Given the description of an element on the screen output the (x, y) to click on. 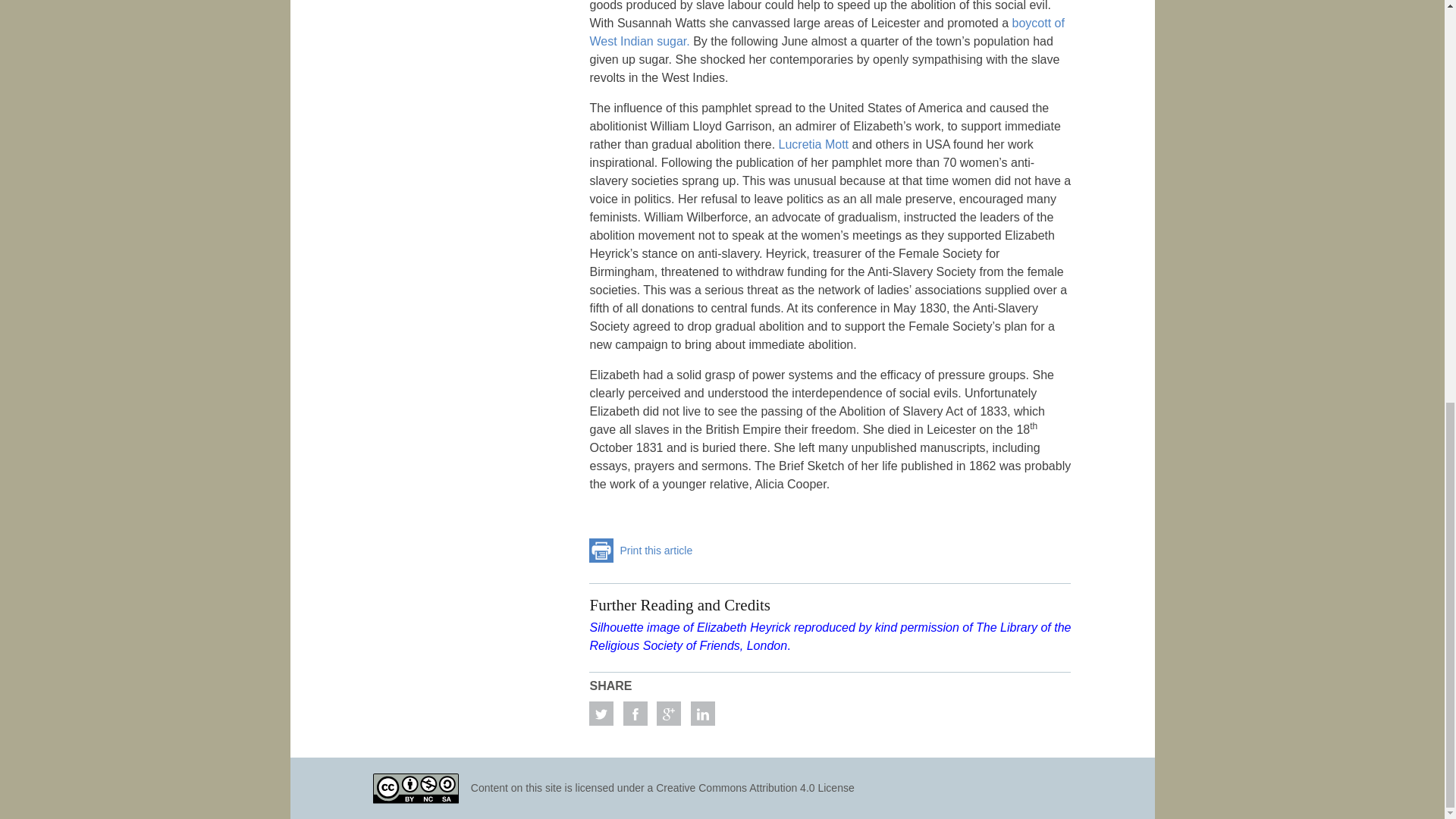
Post to Google Plus (668, 713)
Post to Twitter (600, 713)
Post to Facebook (635, 713)
Post to LinkedIn (702, 713)
